Given the description of an element on the screen output the (x, y) to click on. 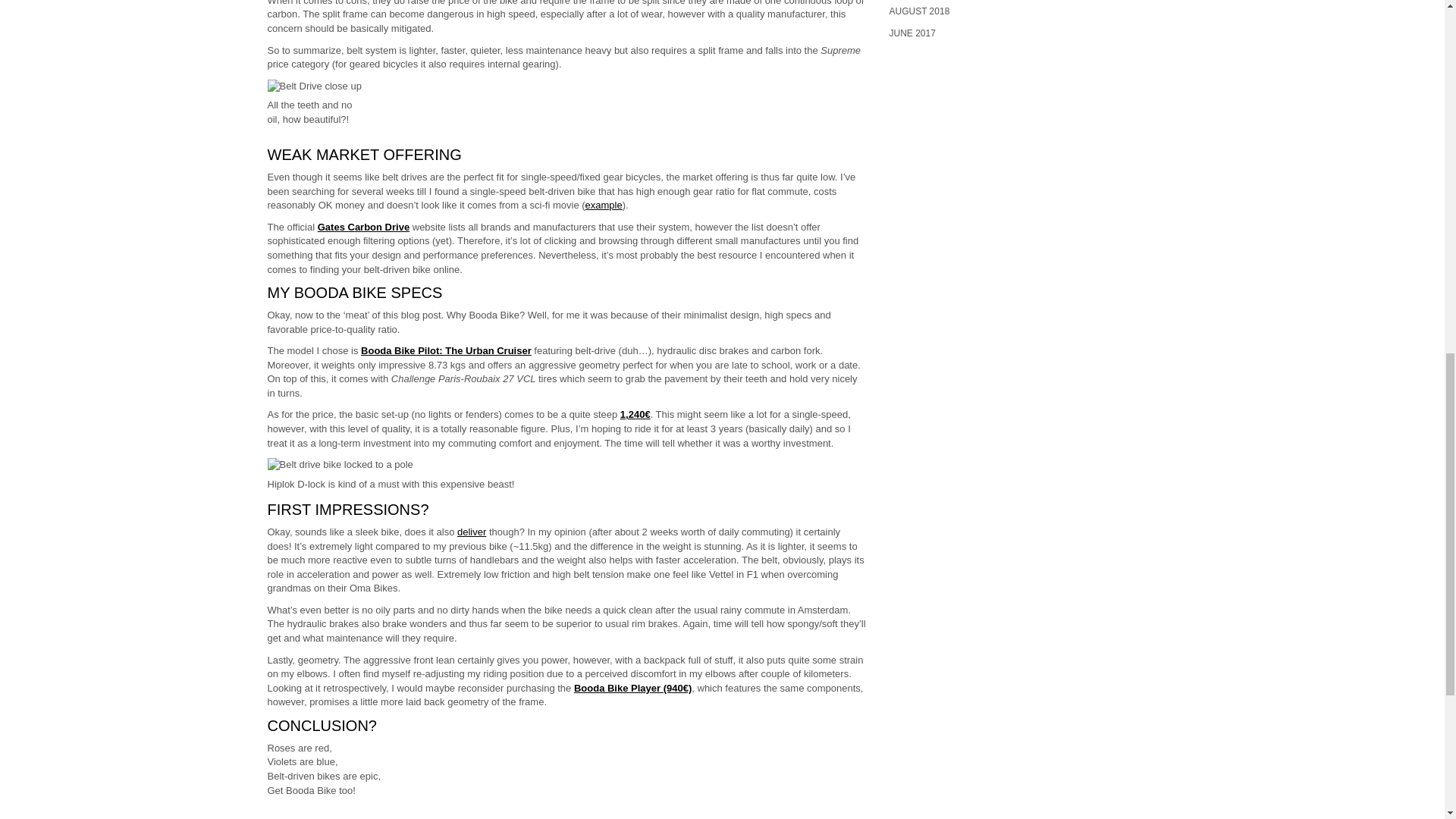
deliver (471, 531)
Gates Carbon Drive (363, 226)
AUGUST 2018 (918, 10)
Booda Bike Pilot: The Urban Cruiser (446, 350)
example (604, 204)
